Given the description of an element on the screen output the (x, y) to click on. 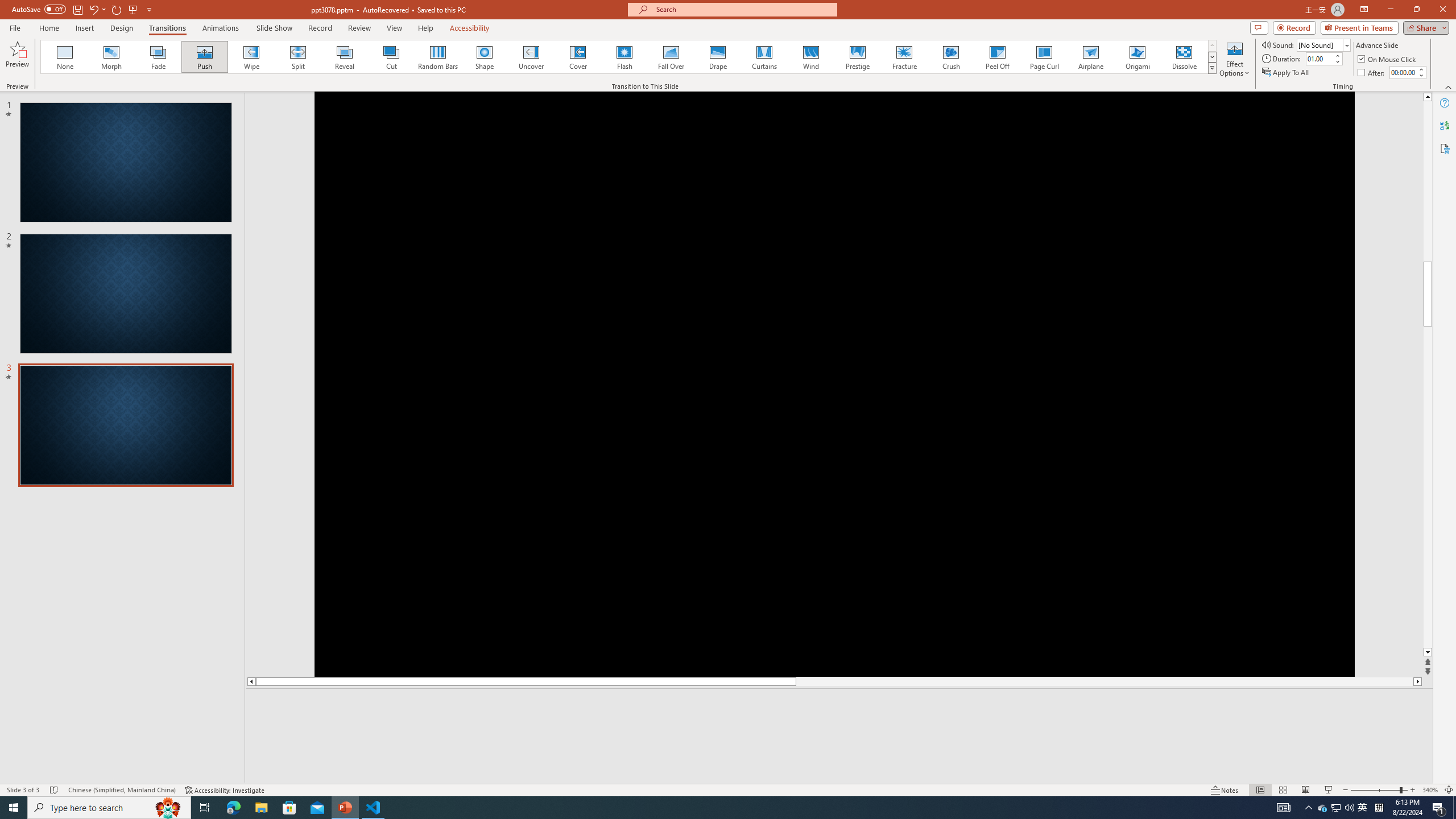
Origami (1136, 56)
AutomationID: AnimationTransitionGallery (628, 56)
After (1403, 72)
Line down (1427, 652)
Fracture (903, 56)
Content Placeholder (1338, 289)
More (1420, 69)
Fade (158, 56)
